Given the description of an element on the screen output the (x, y) to click on. 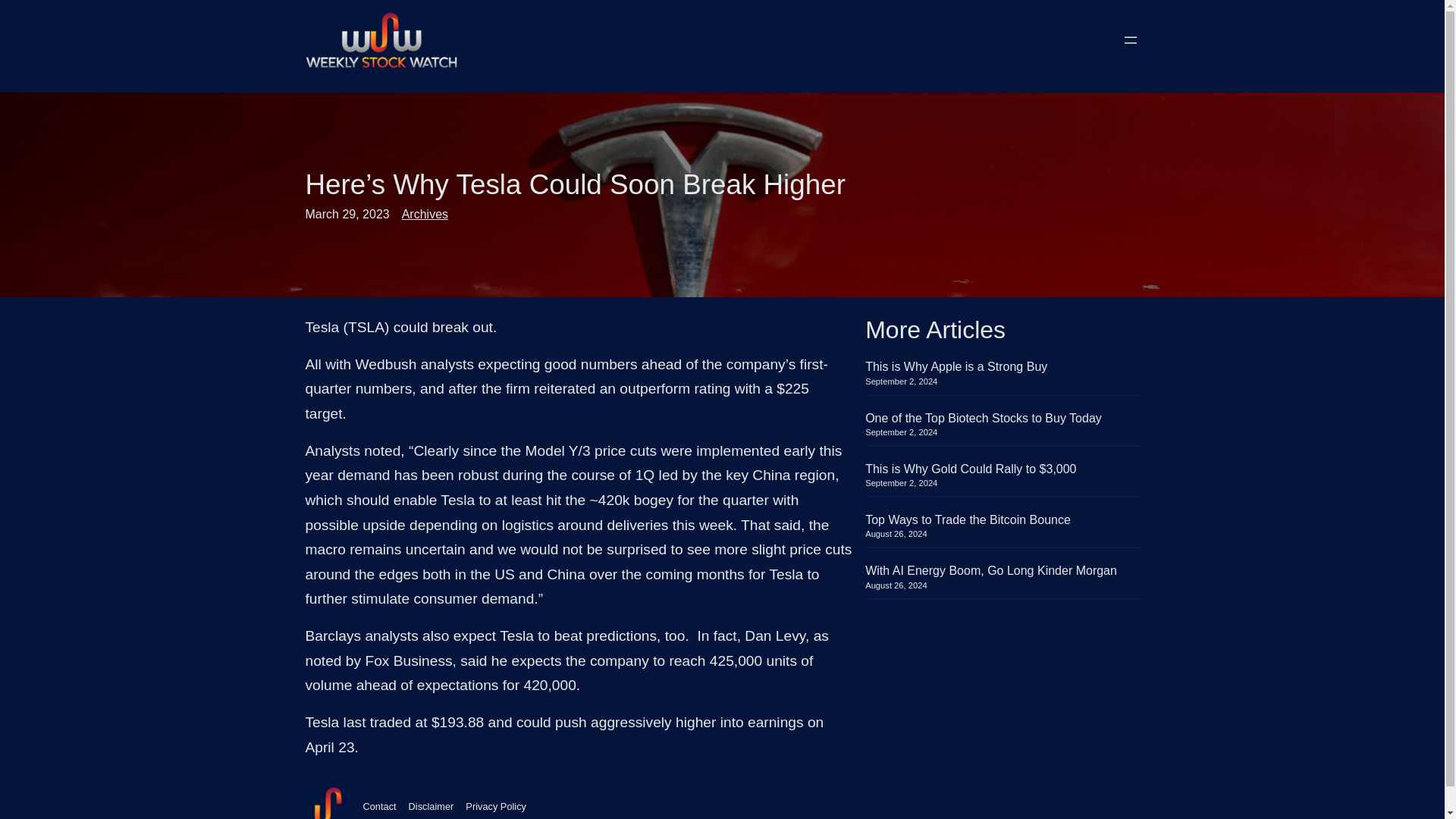
With AI Energy Boom, Go Long Kinder Morgan (990, 570)
Contact (379, 806)
Top Ways to Trade the Bitcoin Bounce (967, 519)
Privacy Policy (495, 806)
This is Why Apple is a Strong Buy (955, 366)
Disclaimer (431, 806)
One of the Top Biotech Stocks to Buy Today (983, 418)
Archives (424, 214)
